Given the description of an element on the screen output the (x, y) to click on. 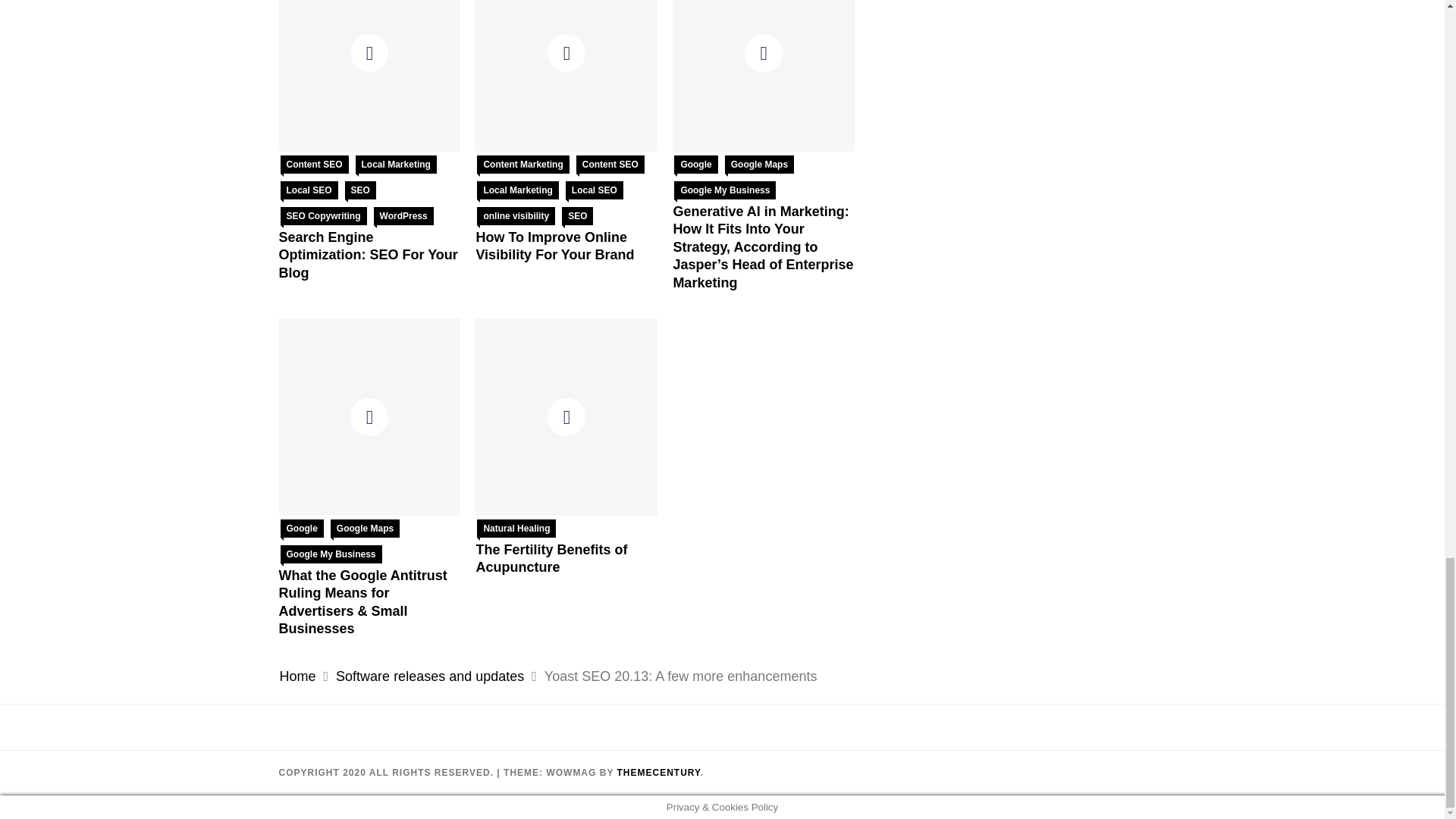
Local Marketing (395, 164)
Content SEO (315, 164)
Local SEO (309, 189)
